Given the description of an element on the screen output the (x, y) to click on. 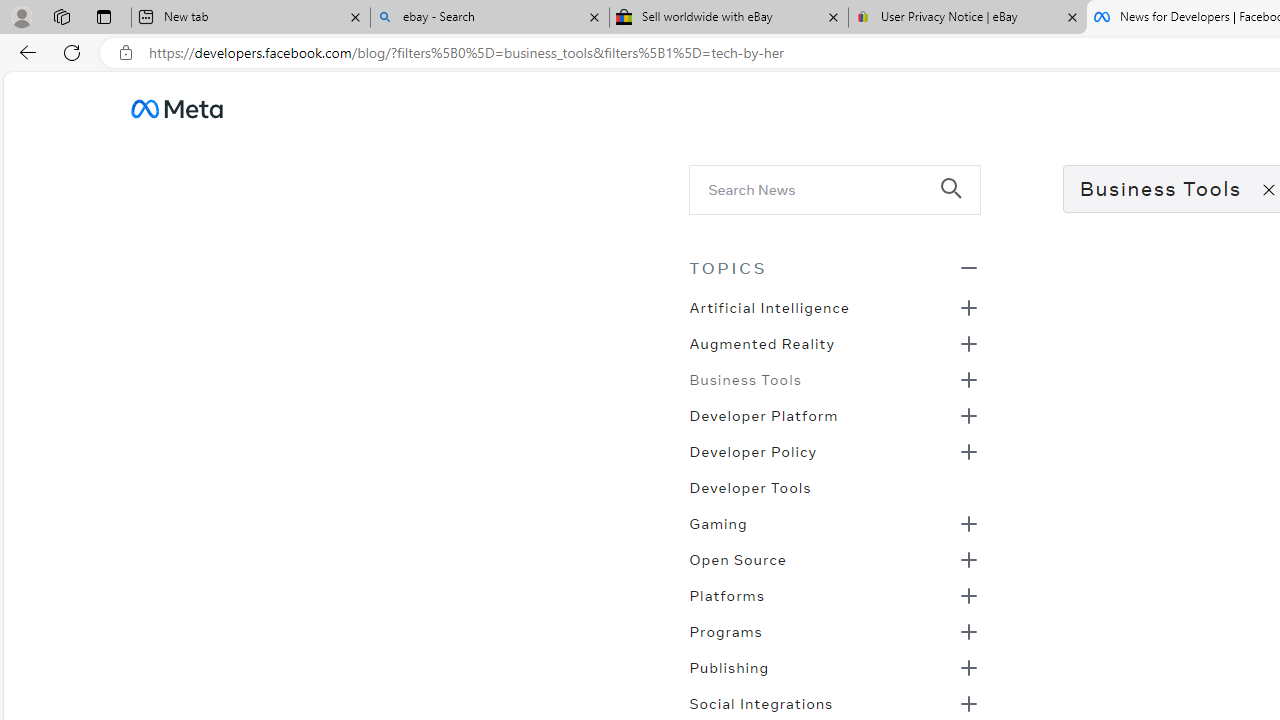
Class: _98ce (959, 201)
Developer Policy (752, 449)
Class: _58al (820, 188)
Augmented Reality (761, 341)
Programs (725, 629)
Open Source (737, 557)
AutomationID: u_0_4z_2S (176, 107)
User Privacy Notice | eBay (967, 17)
Sell worldwide with eBay (729, 17)
Business Tools (745, 377)
Class: _9890 _98ey (834, 267)
